Given the description of an element on the screen output the (x, y) to click on. 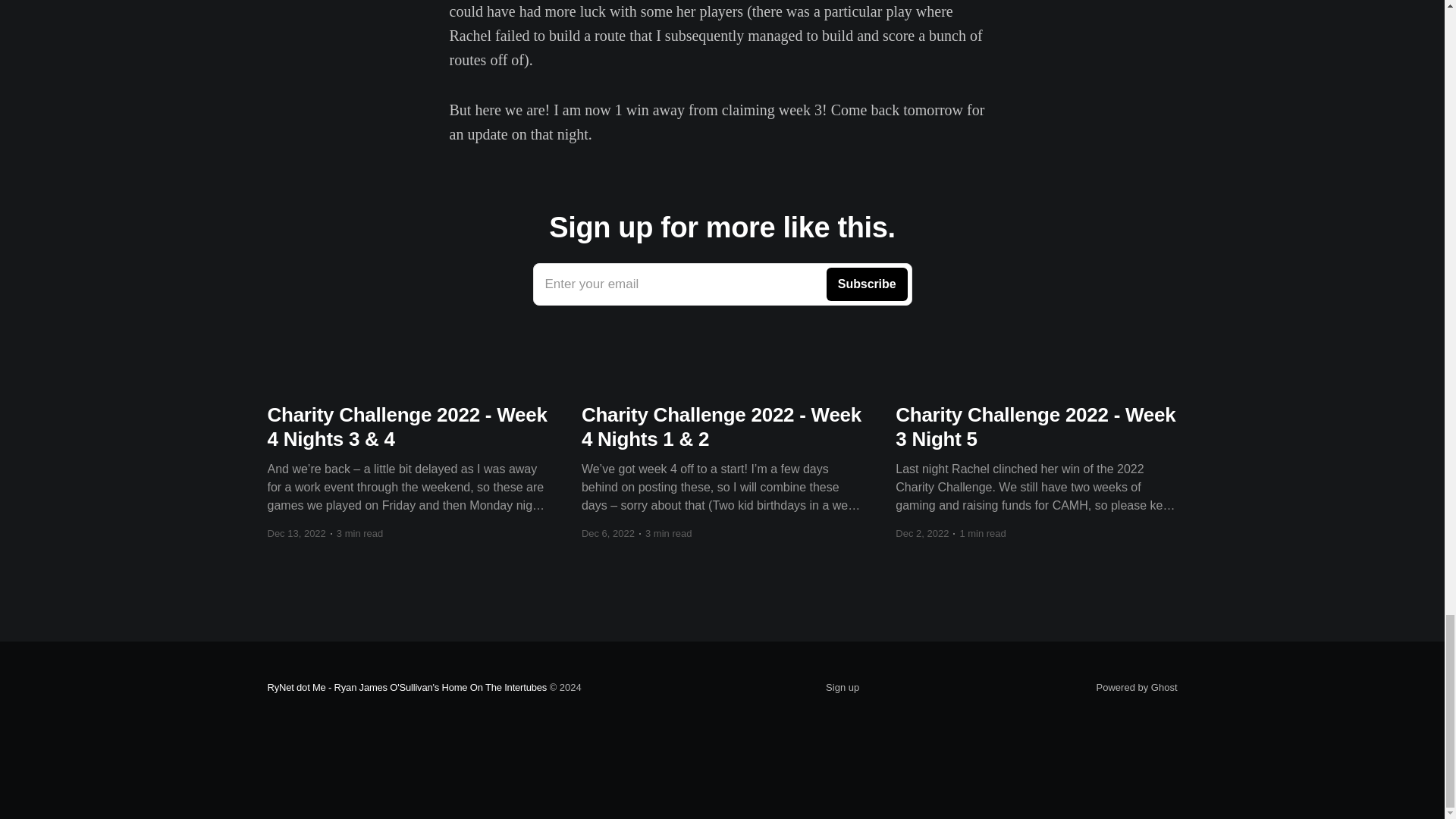
Sign up (842, 687)
Powered by Ghost (721, 283)
